Given the description of an element on the screen output the (x, y) to click on. 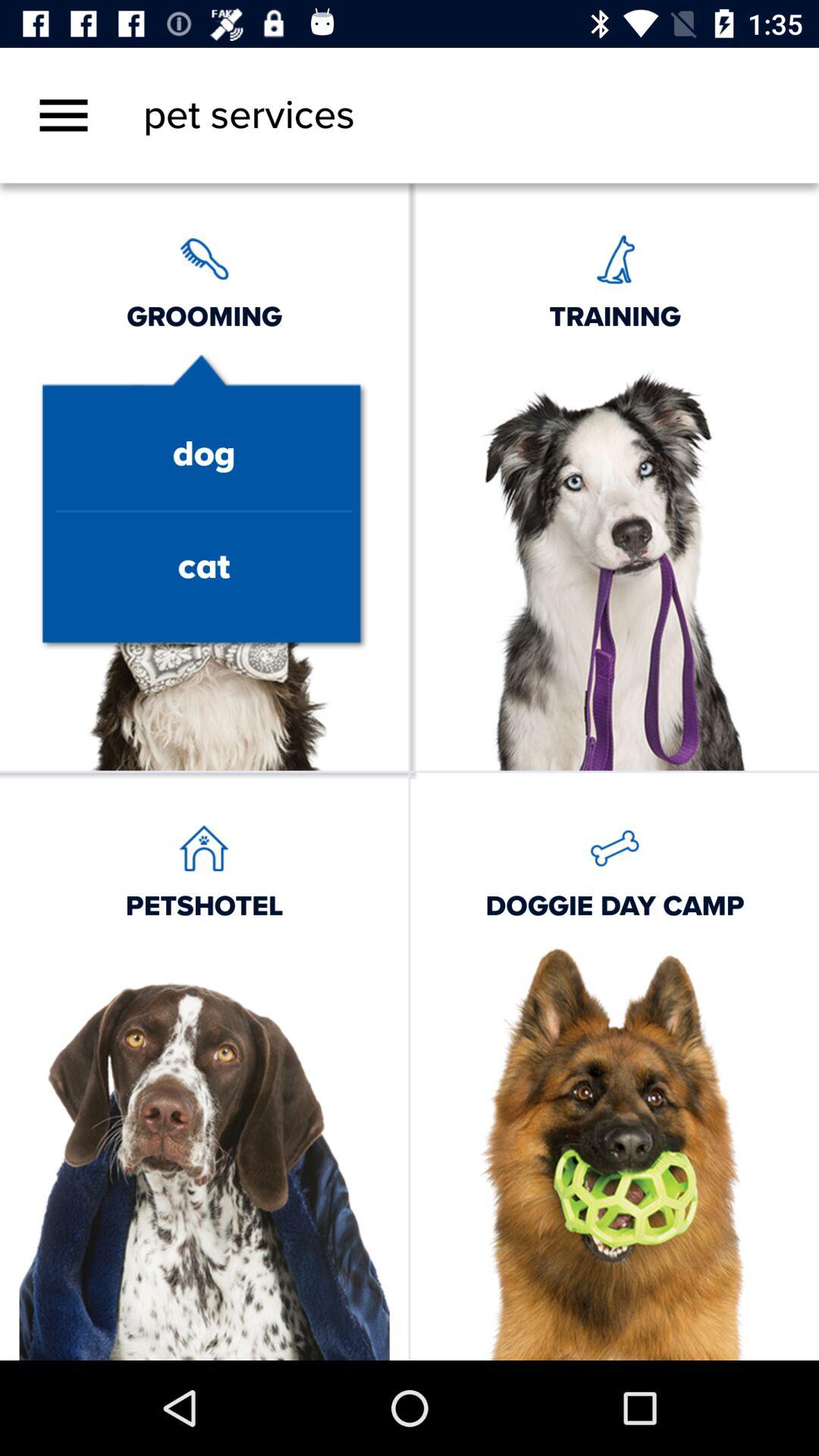
tap cat item (203, 567)
